Given the description of an element on the screen output the (x, y) to click on. 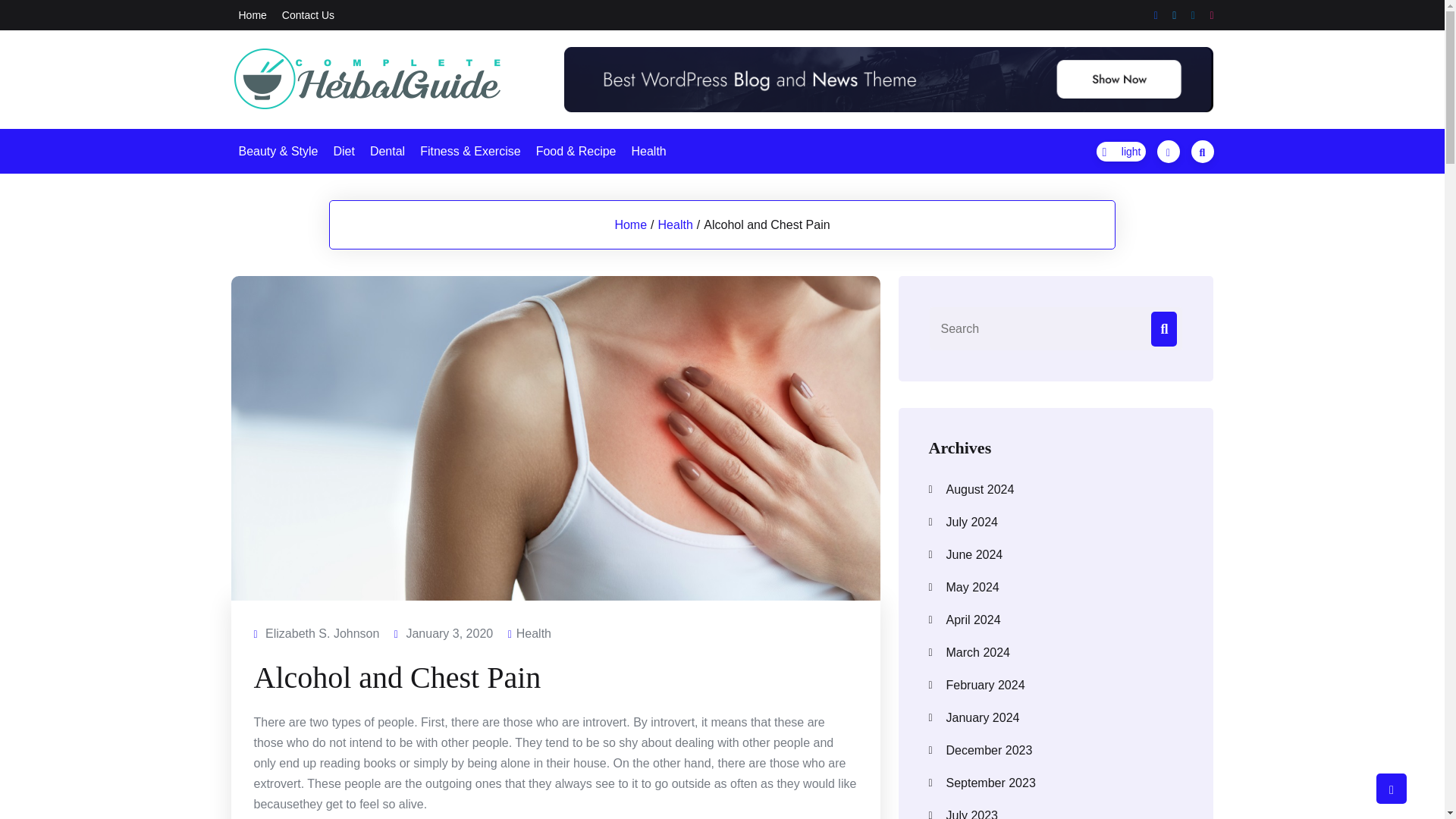
Dental (387, 150)
Health (533, 633)
Search for: (1055, 328)
Contact Us (308, 14)
Health (675, 224)
Home (251, 14)
on (1120, 150)
Home (630, 224)
Health (647, 150)
January 3, 2020 (449, 633)
